Given the description of an element on the screen output the (x, y) to click on. 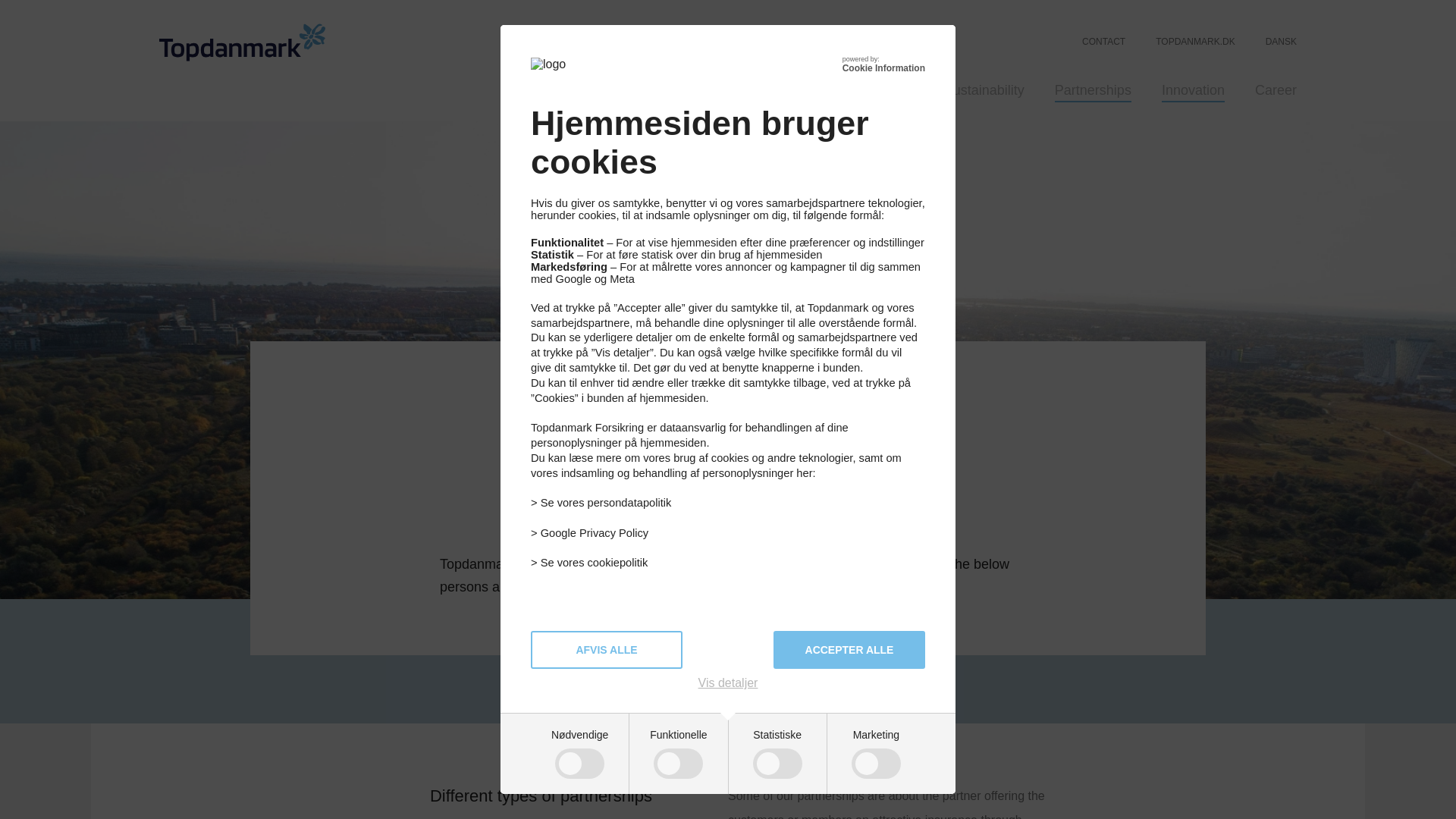
AFVIS ALLE (606, 649)
Vis detaljer (728, 683)
ACCEPTER ALLE (848, 649)
Cookie Information (883, 68)
